Given the description of an element on the screen output the (x, y) to click on. 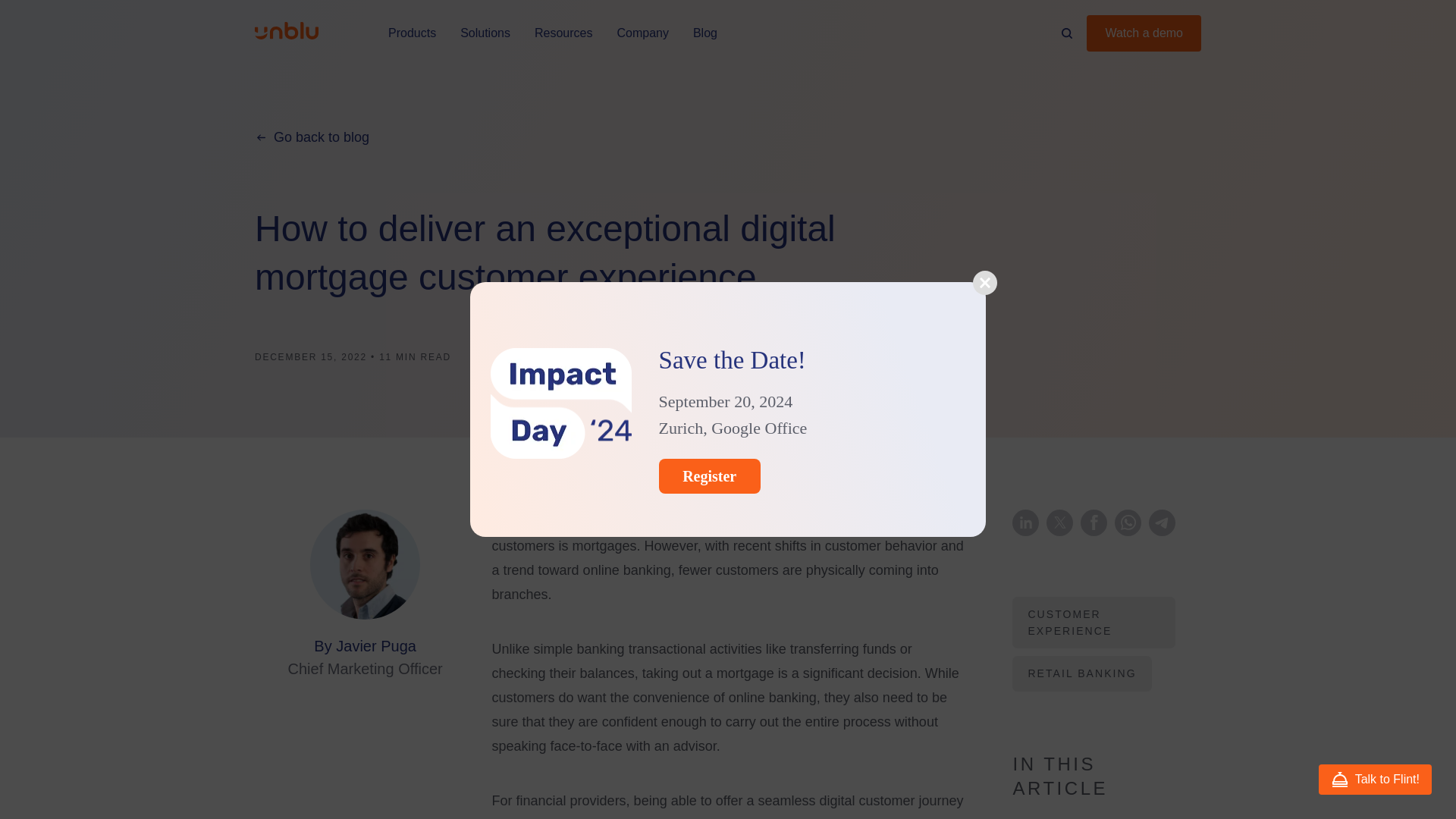
Solutions (485, 33)
Products (411, 33)
